Given the description of an element on the screen output the (x, y) to click on. 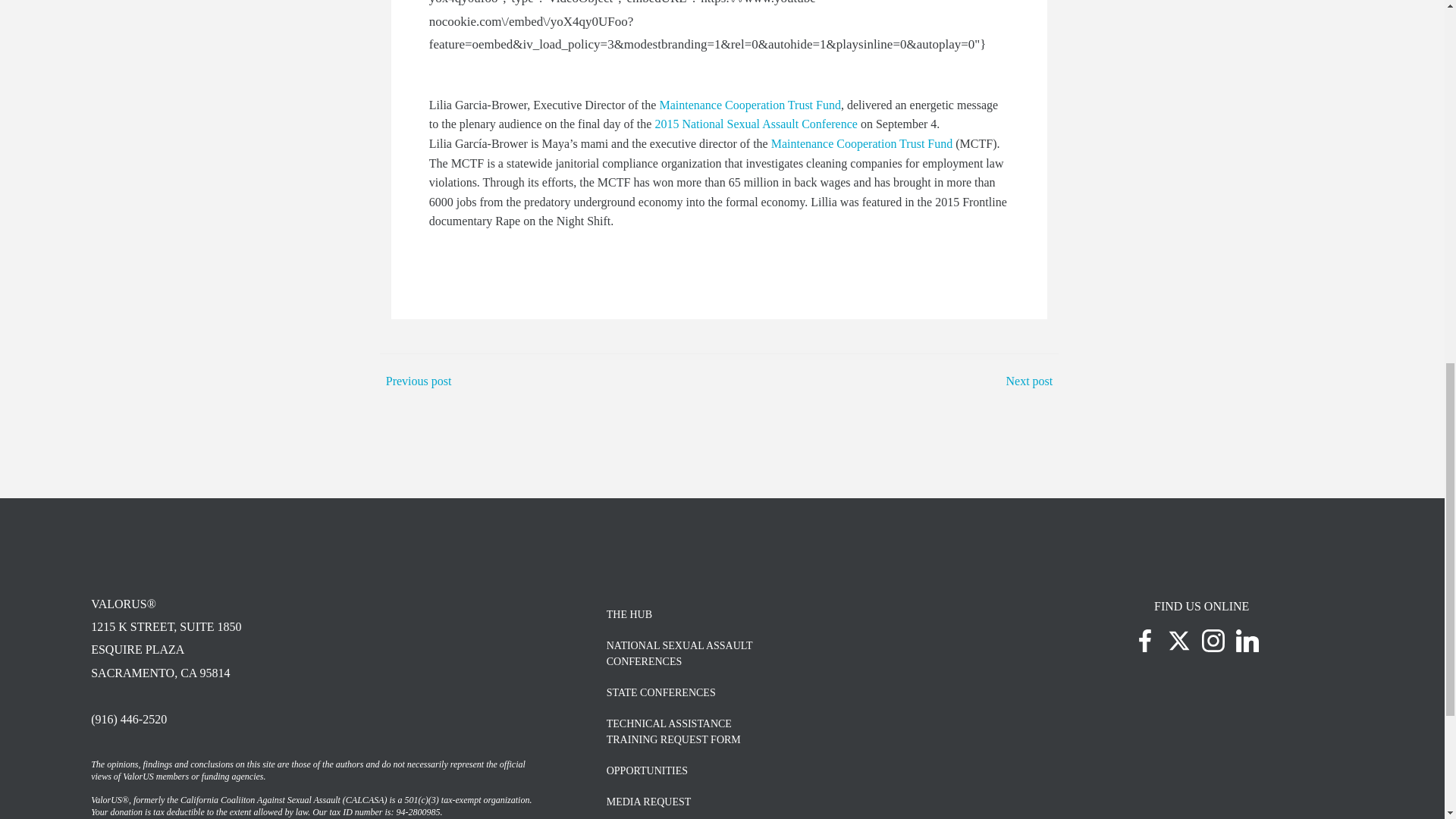
Maintenance Cooperation Trust Fund (750, 104)
Maintenance Cooperation Trust Fund  (794, 731)
THE HUB (863, 143)
Next post (794, 614)
2015 National Sexual Assault Conference (1029, 381)
STATE CONFERENCES (755, 123)
Previous post (794, 692)
